Given the description of an element on the screen output the (x, y) to click on. 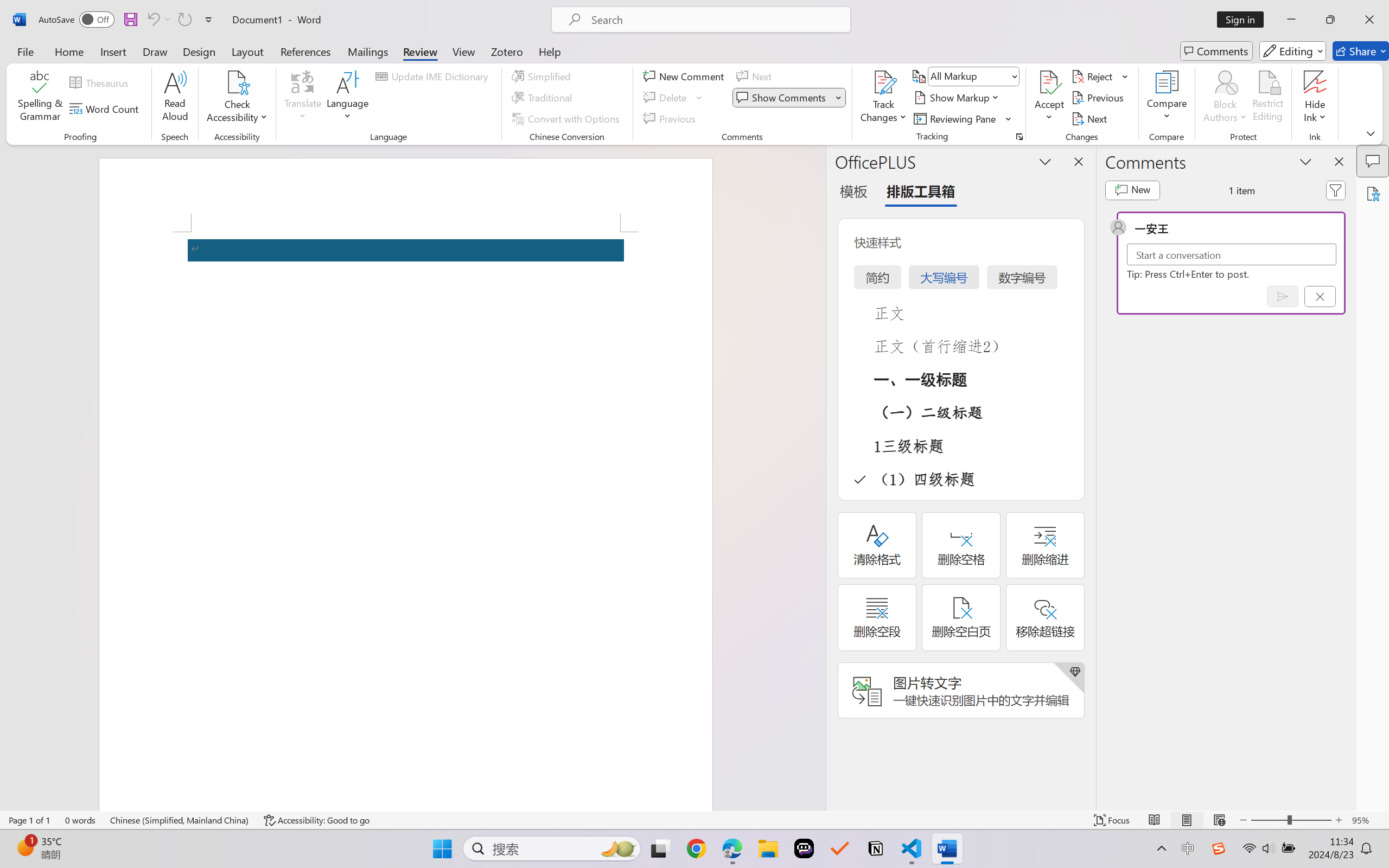
Spelling & Grammar (39, 97)
Show Comments (788, 97)
Language (347, 97)
Language Chinese (Simplified, Mainland China) (179, 819)
Update IME Dictionary... (433, 75)
